Given the description of an element on the screen output the (x, y) to click on. 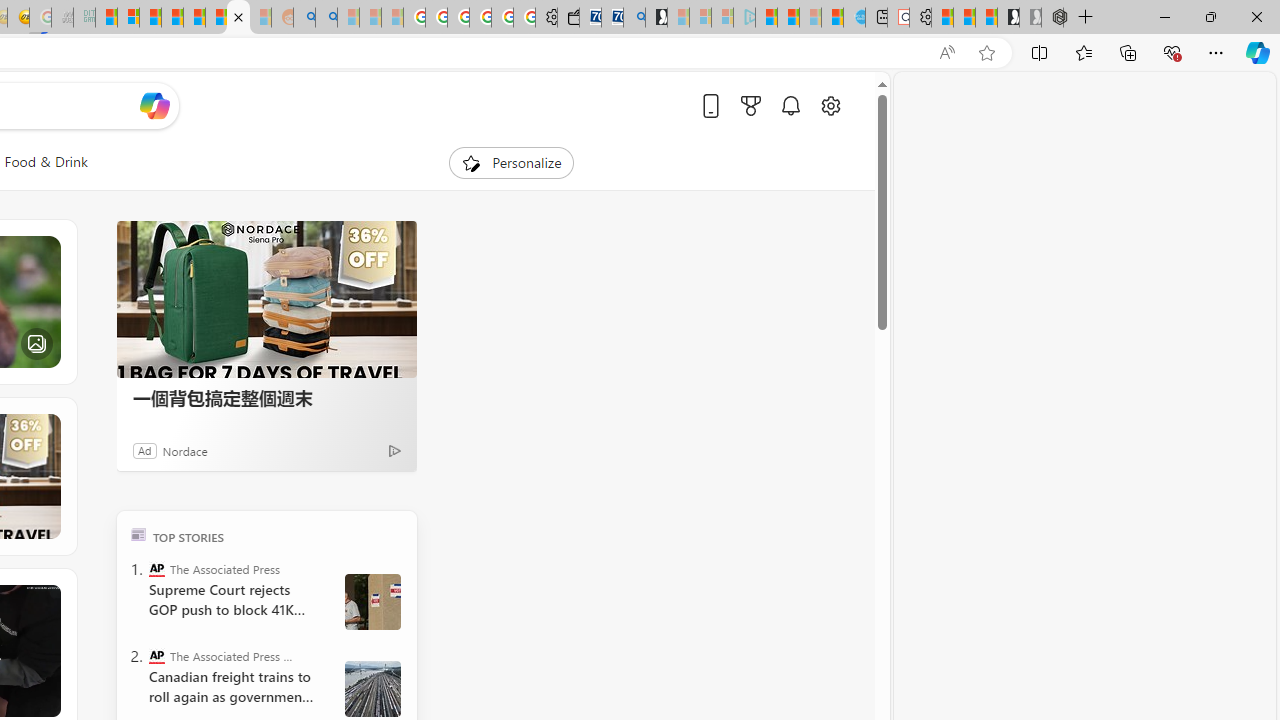
Microsoft account | Privacy - Sleeping (722, 17)
Notifications (790, 105)
